Given the description of an element on the screen output the (x, y) to click on. 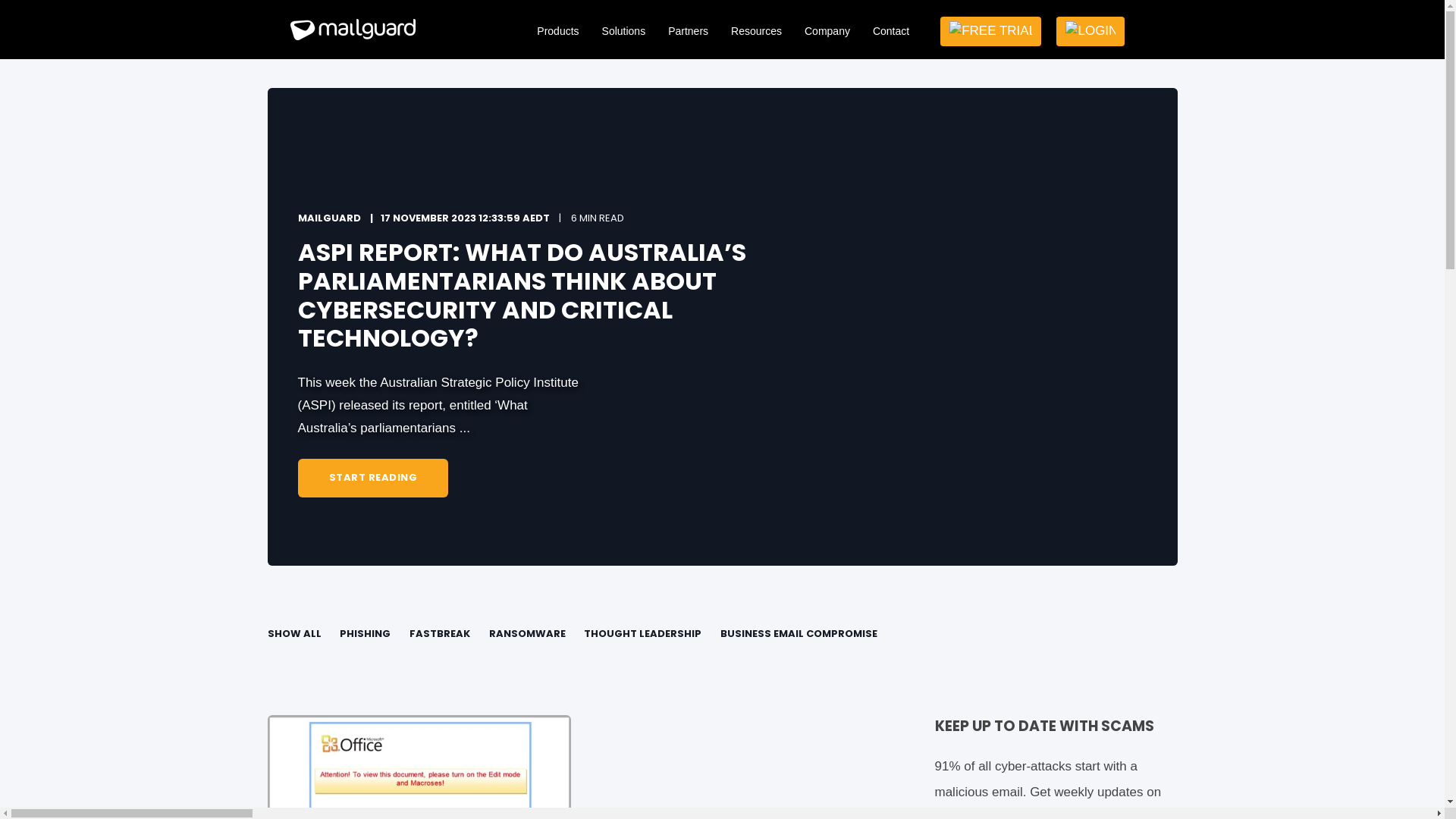
BUSINESS EMAIL COMPROMISE Element type: text (798, 633)
FASTBREAK Element type: text (439, 633)
START READING Element type: text (372, 477)
Products Element type: text (557, 31)
RANSOMWARE Element type: text (527, 633)
THOUGHT LEADERSHIP Element type: text (642, 633)
Partners Element type: text (687, 31)
Solutions Element type: text (623, 31)
Company Element type: text (827, 31)
MAILGUARD Element type: text (328, 220)
Resources Element type: text (756, 31)
SHOW ALL Element type: text (293, 633)
PHISHING Element type: text (364, 633)
Contact Element type: text (890, 31)
